Given the description of an element on the screen output the (x, y) to click on. 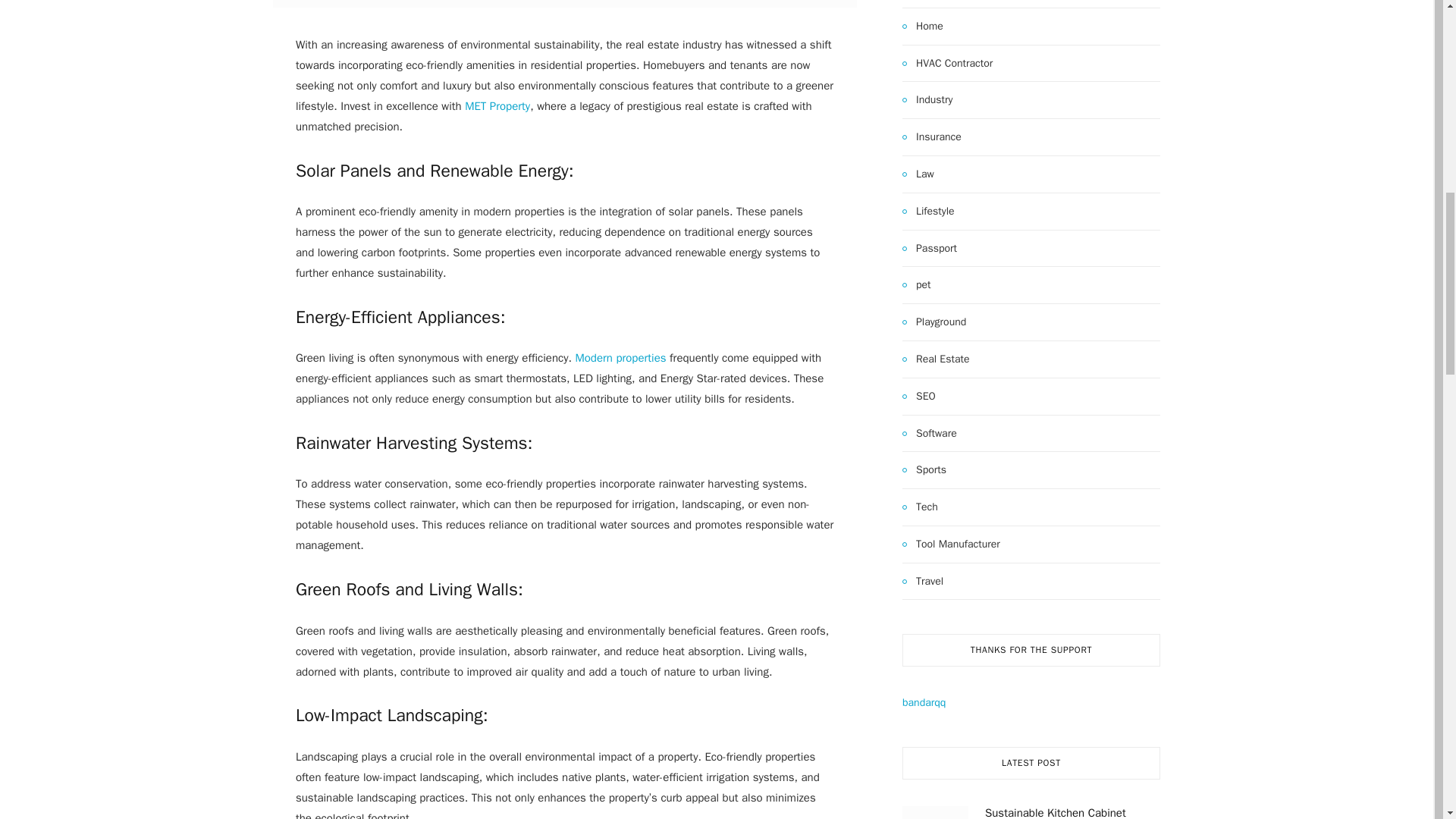
Modern properties (620, 357)
MET Property (496, 106)
